Given the description of an element on the screen output the (x, y) to click on. 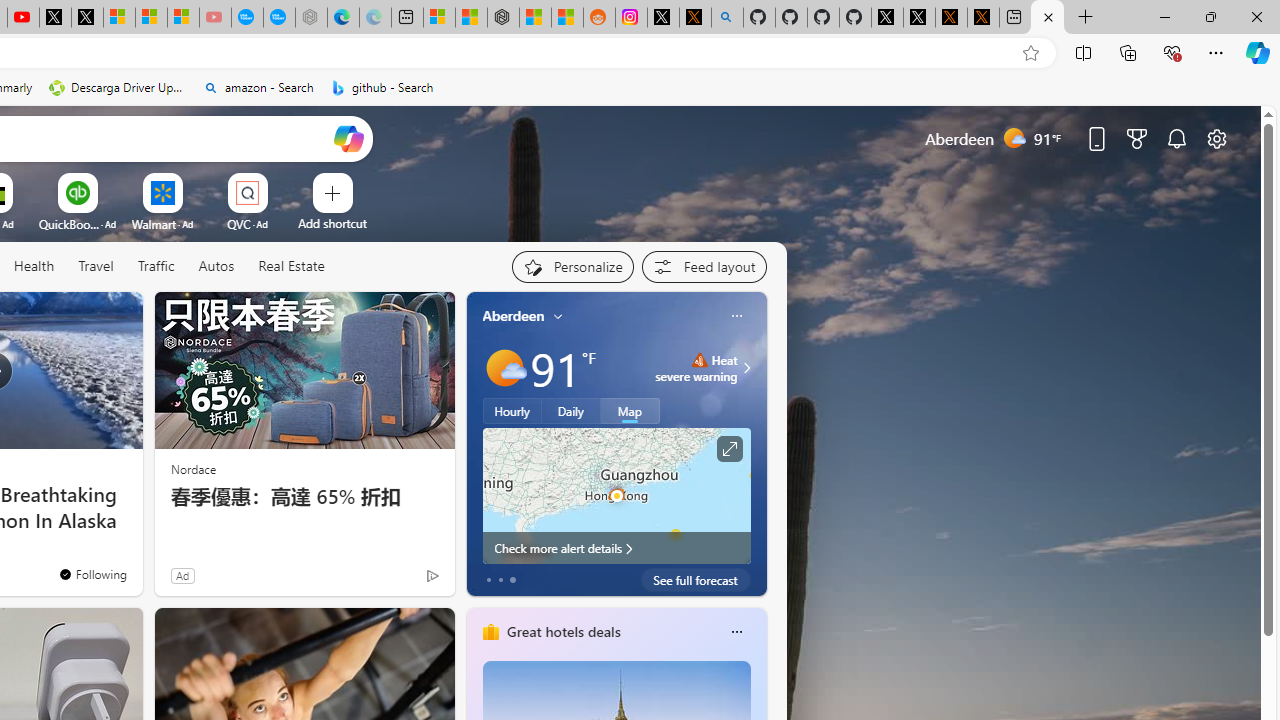
Opinion: Op-Ed and Commentary - USA TODAY (246, 17)
Real Estate (290, 267)
Hourly (511, 411)
Great hotels deals (562, 631)
Heat - Severe (699, 359)
Map (630, 411)
help.x.com | 524: A timeout occurred (694, 17)
GitHub (@github) / X (919, 17)
